Given the description of an element on the screen output the (x, y) to click on. 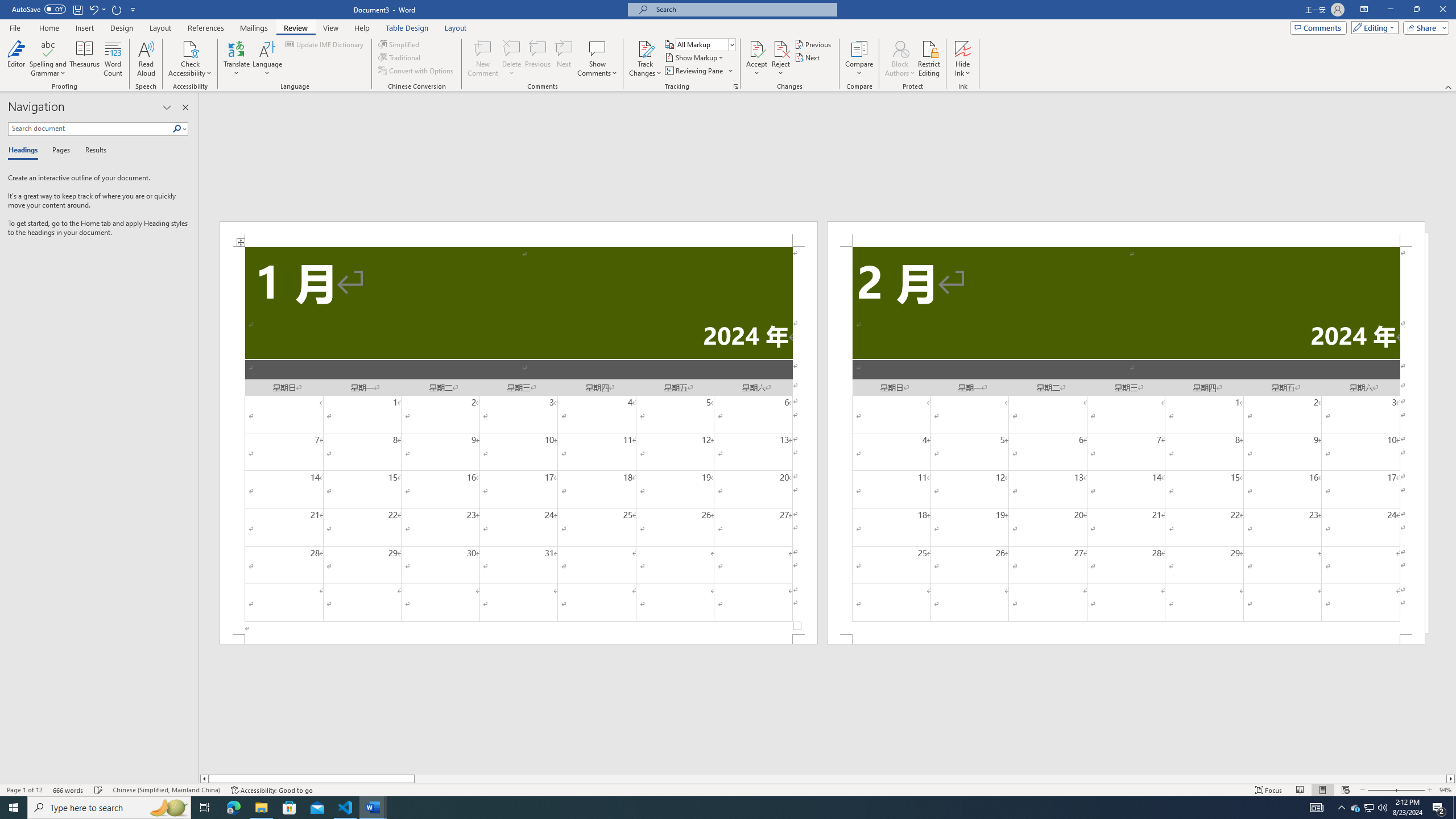
Column left (203, 778)
Next (808, 56)
Undo Increase Indent (96, 9)
Translate (236, 58)
Delete (511, 58)
Page Number Page 1 of 12 (24, 790)
